Given the description of an element on the screen output the (x, y) to click on. 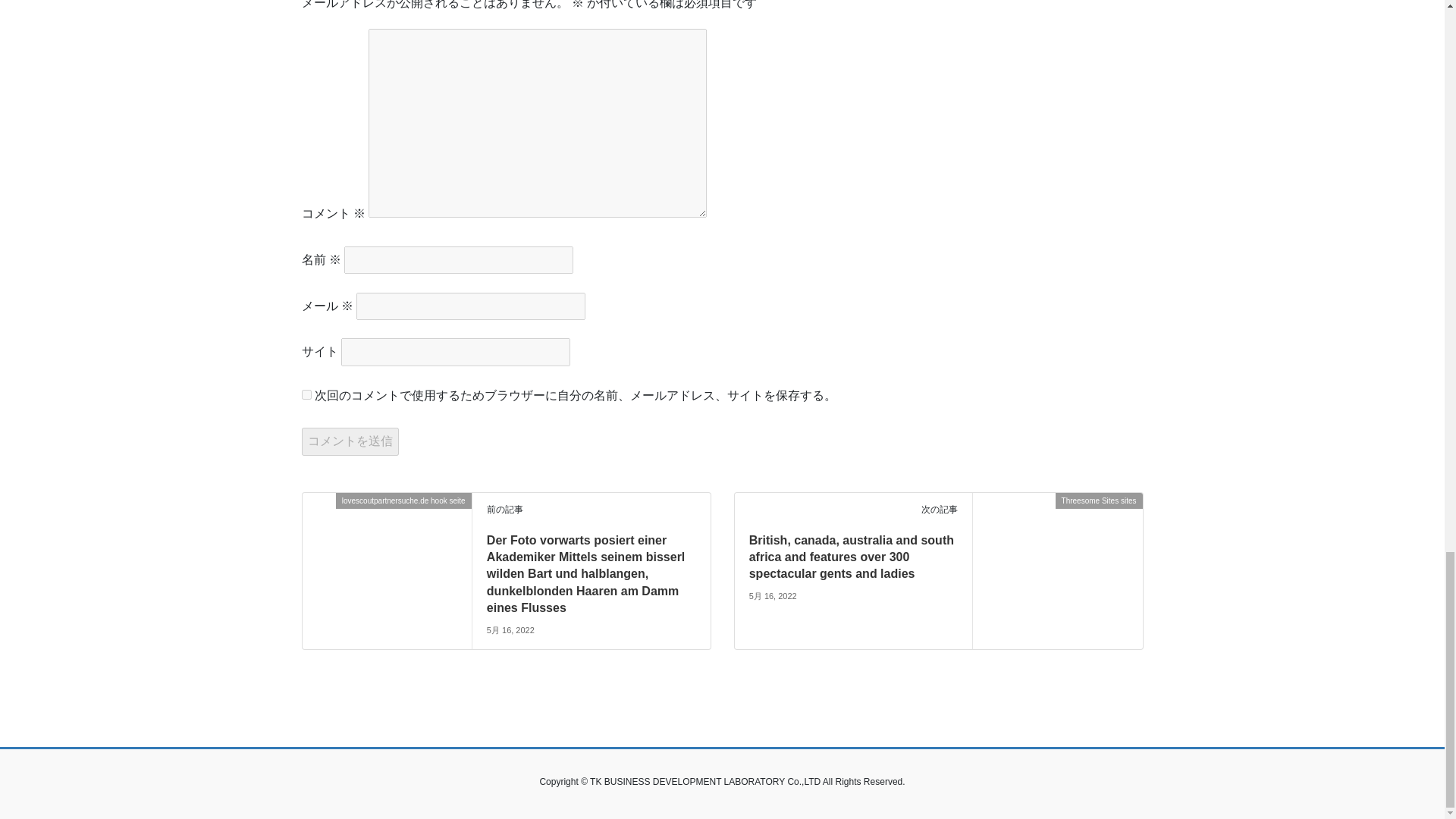
yes (306, 394)
